Given the description of an element on the screen output the (x, y) to click on. 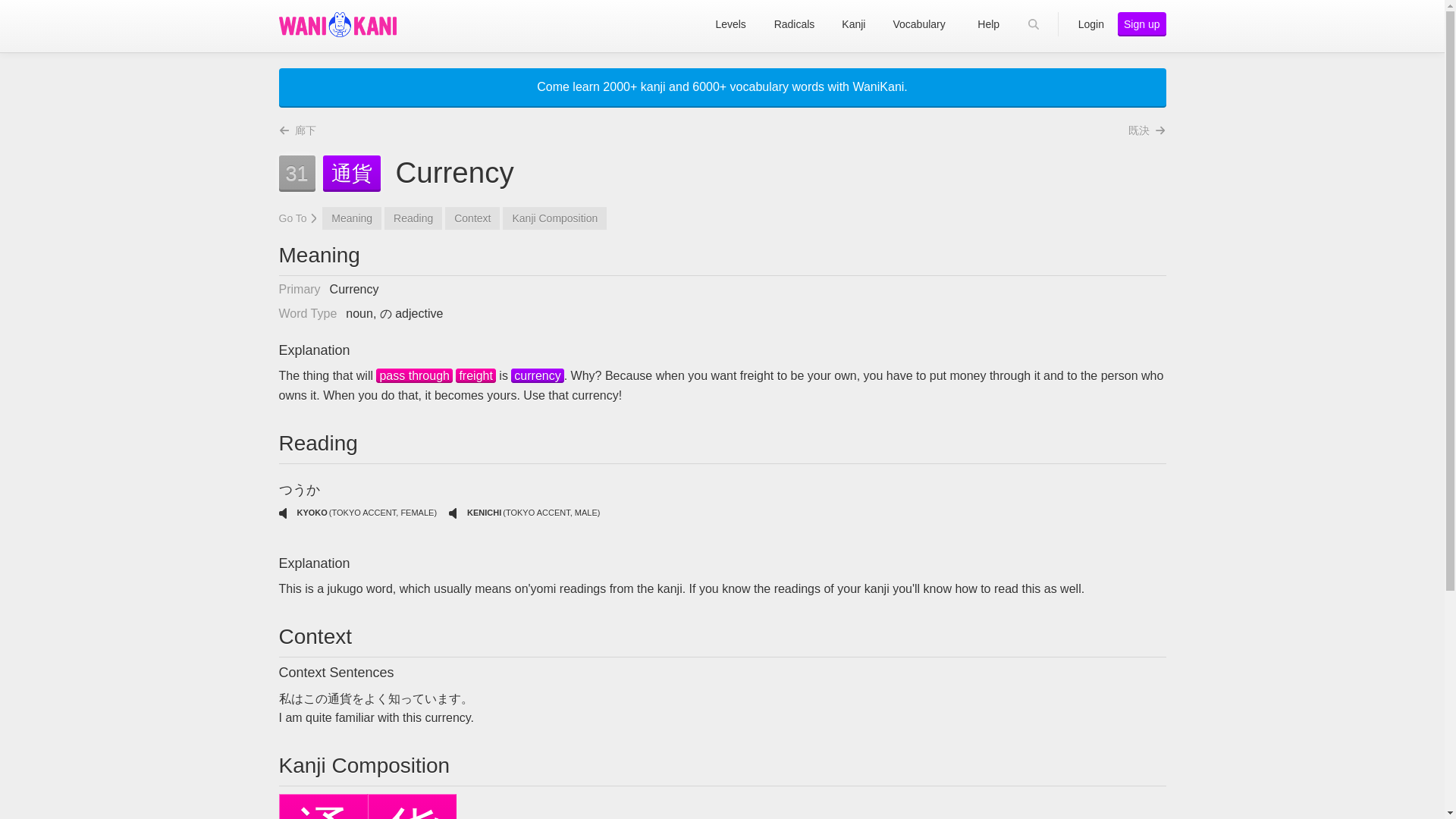
play audio (282, 512)
Kanji (413, 375)
Kanji (475, 375)
play audio (452, 512)
Vocabulary (537, 375)
Levels (730, 24)
WaniKani (337, 24)
